Given the description of an element on the screen output the (x, y) to click on. 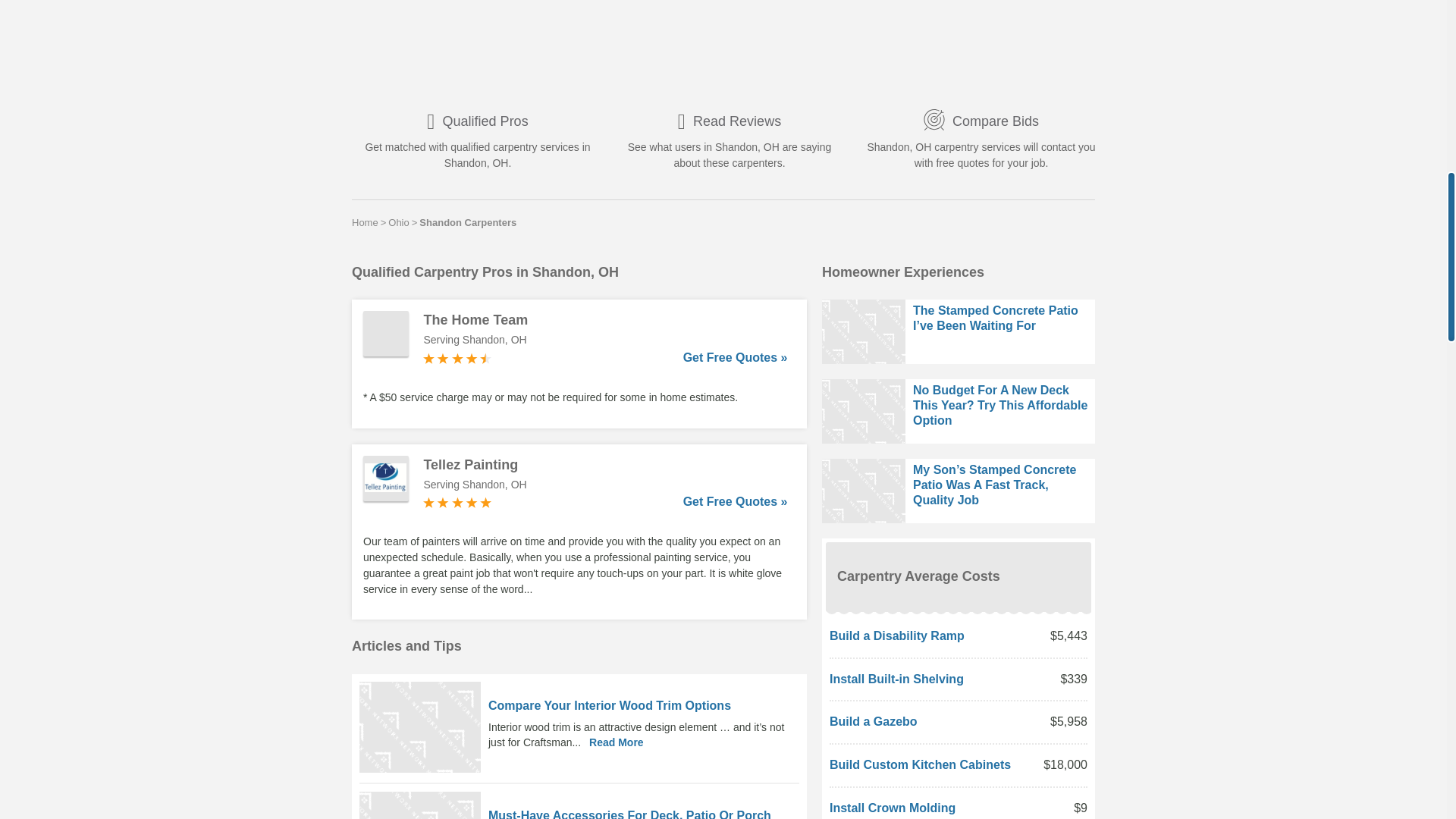
Ohio (398, 222)
5 star rating (457, 502)
Home (365, 222)
The Home Team (605, 320)
4.5 star rating (457, 358)
